Given the description of an element on the screen output the (x, y) to click on. 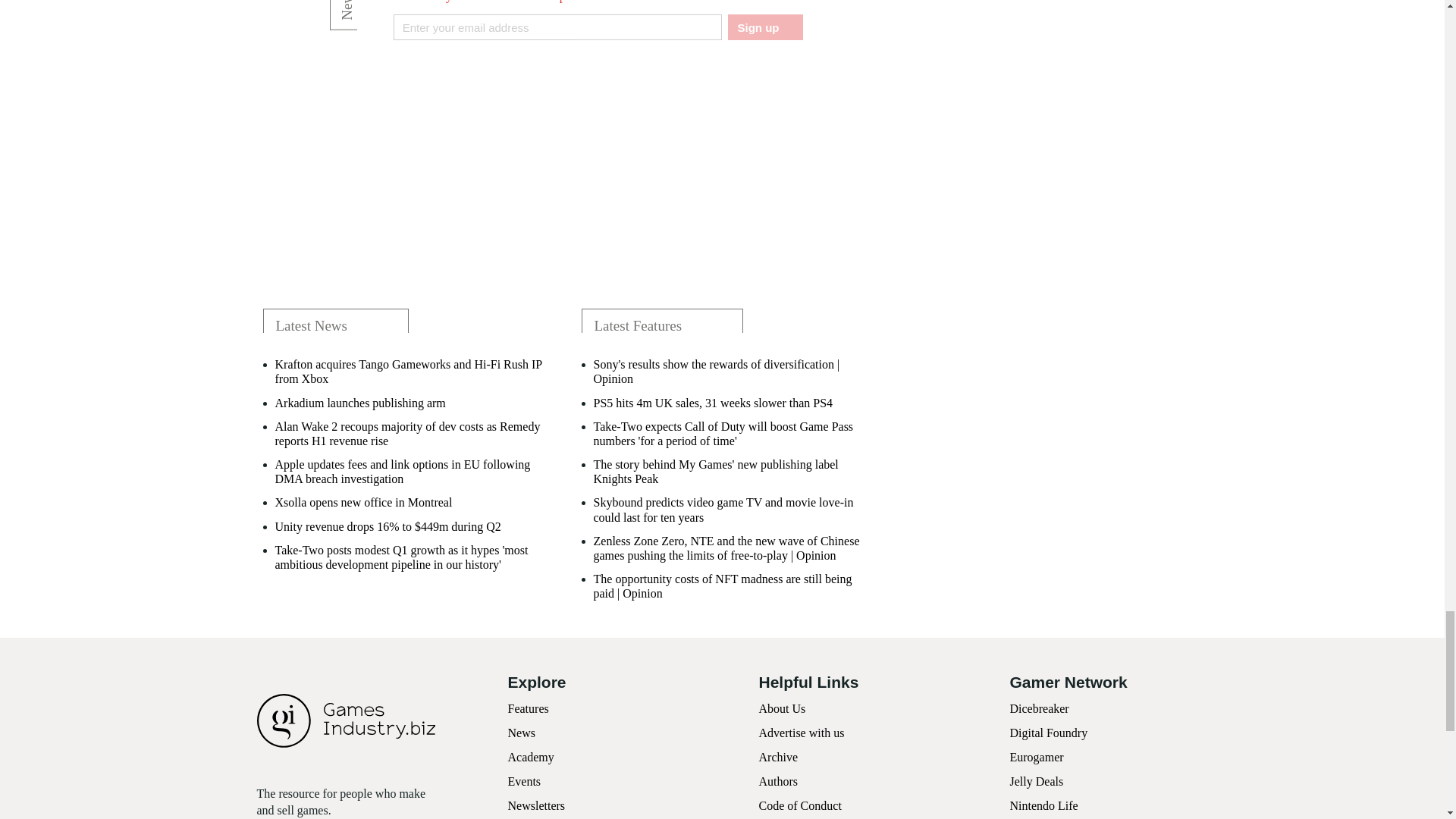
Arkadium launches publishing arm (360, 402)
Krafton acquires Tango Gameworks and Hi-Fi Rush IP from Xbox (409, 371)
Archive (777, 757)
Sign up (765, 27)
Authors (777, 780)
Events (524, 780)
About Us (781, 707)
Features (528, 707)
